Given the description of an element on the screen output the (x, y) to click on. 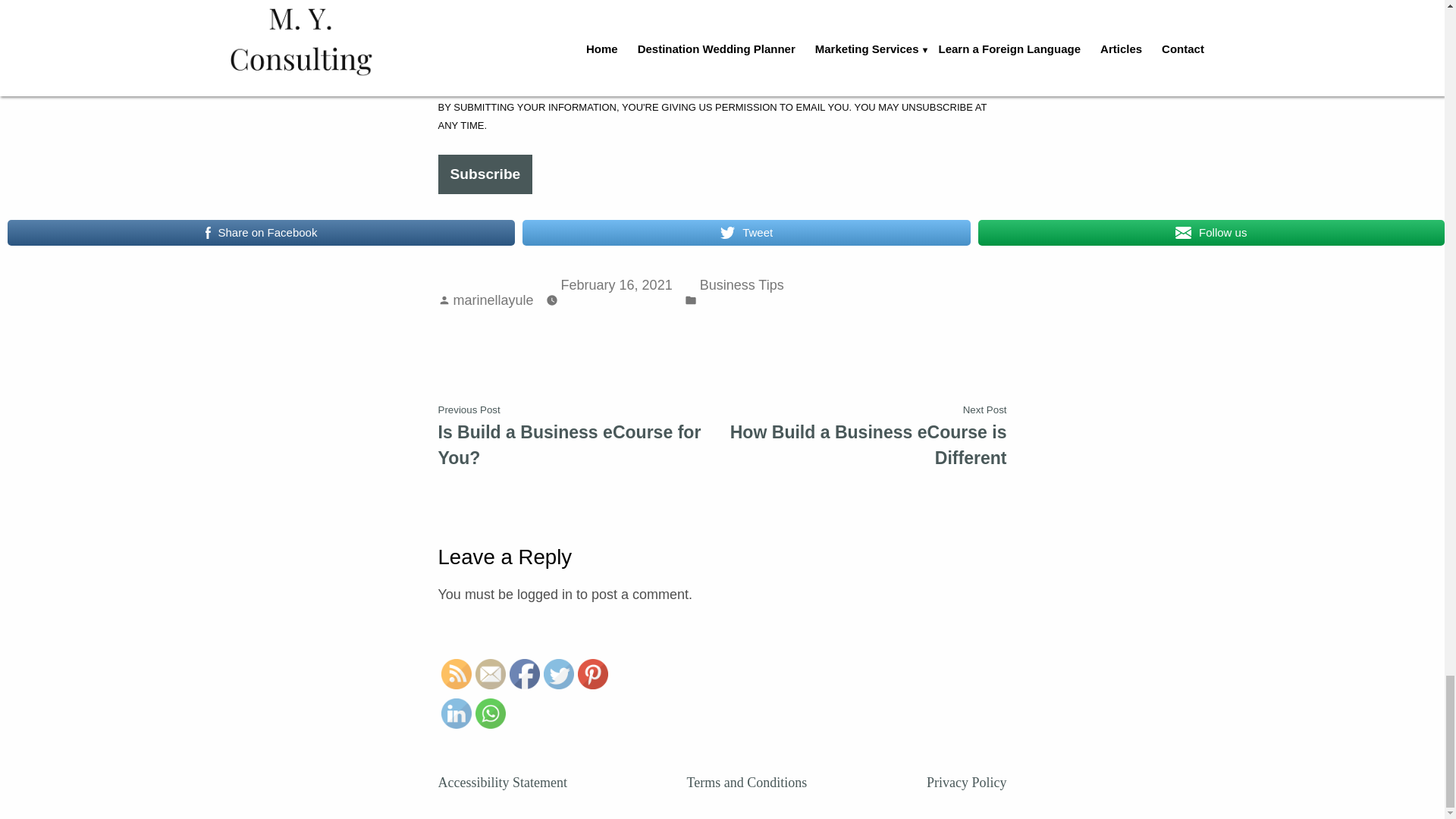
Follow by Email (489, 674)
Share on Facebook (261, 232)
Twitter (558, 674)
Subscribe (485, 173)
February 16, 2021 (616, 285)
Business Tips (742, 285)
RSS (456, 674)
Pinterest (593, 674)
